Given the description of an element on the screen output the (x, y) to click on. 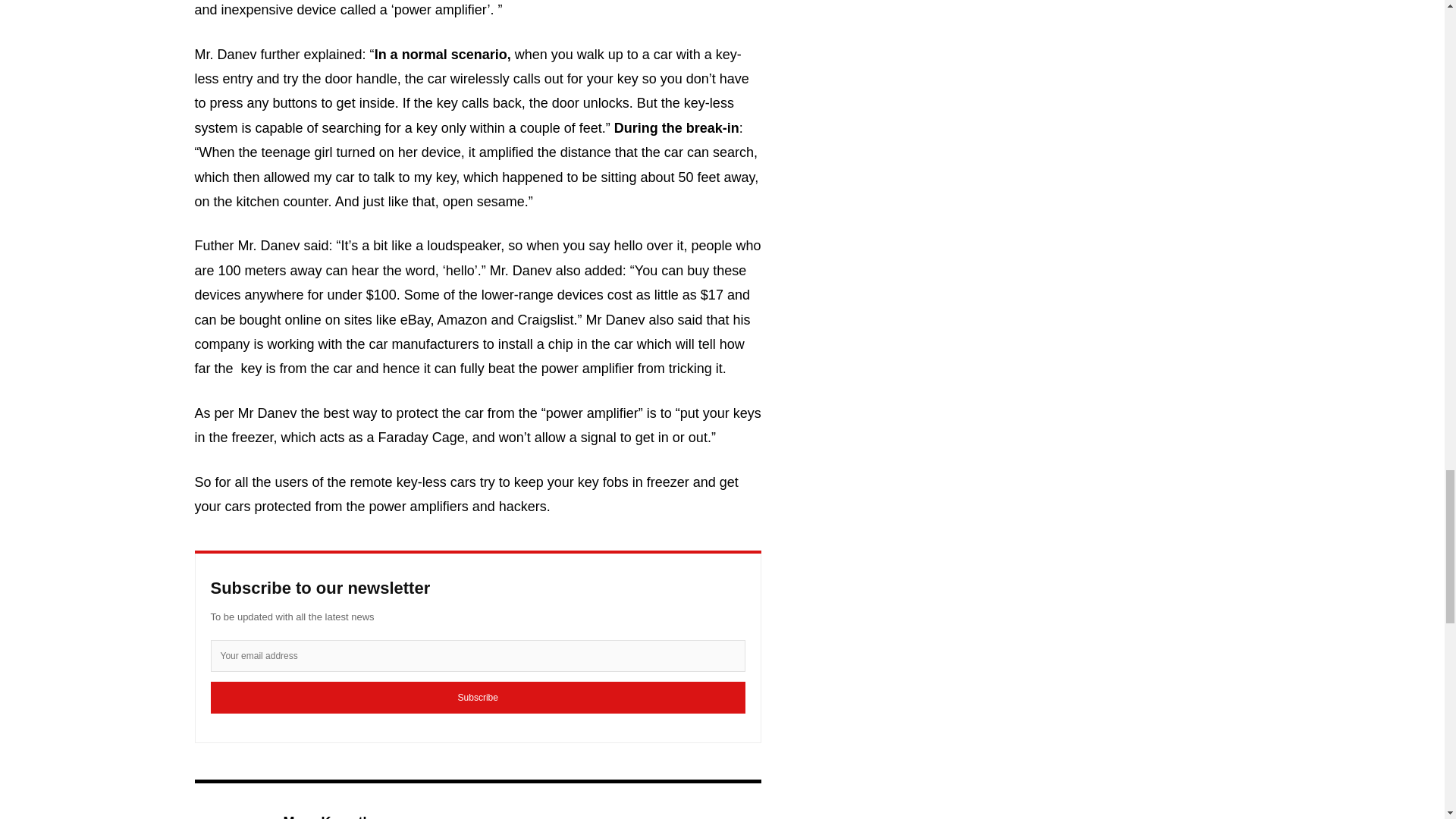
Maya Kamath (229, 814)
Subscribe (478, 697)
